Given the description of an element on the screen output the (x, y) to click on. 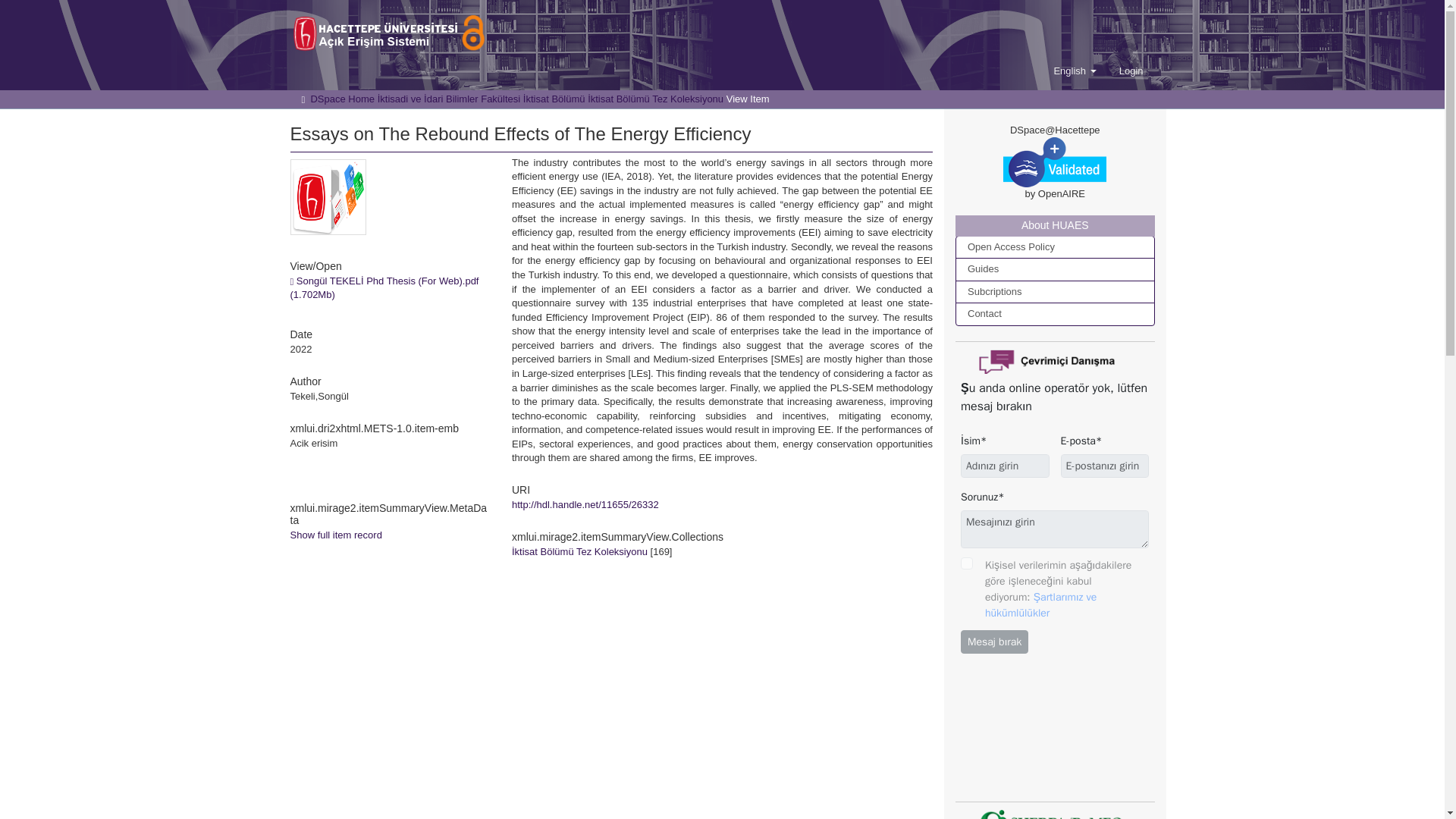
Show full item record (335, 534)
Login (1131, 71)
English  (1074, 71)
DSpace Home (342, 98)
